Given the description of an element on the screen output the (x, y) to click on. 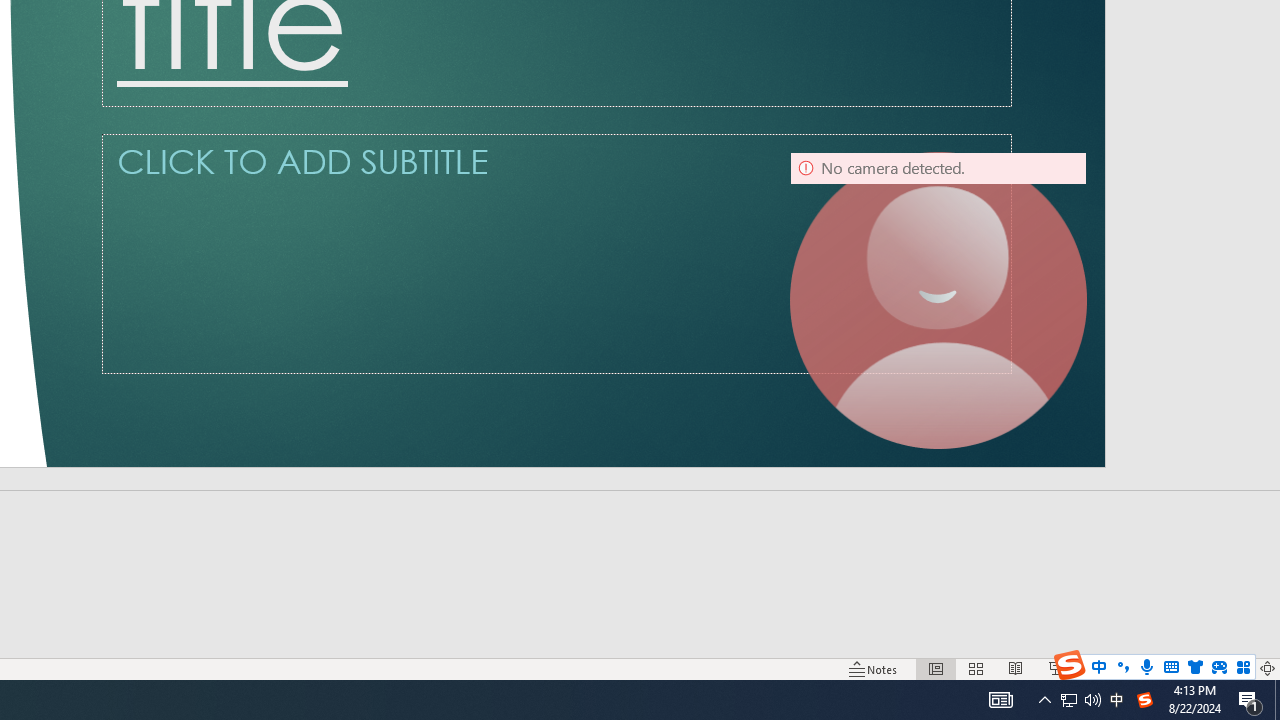
Zoom 140% (1234, 668)
